Given the description of an element on the screen output the (x, y) to click on. 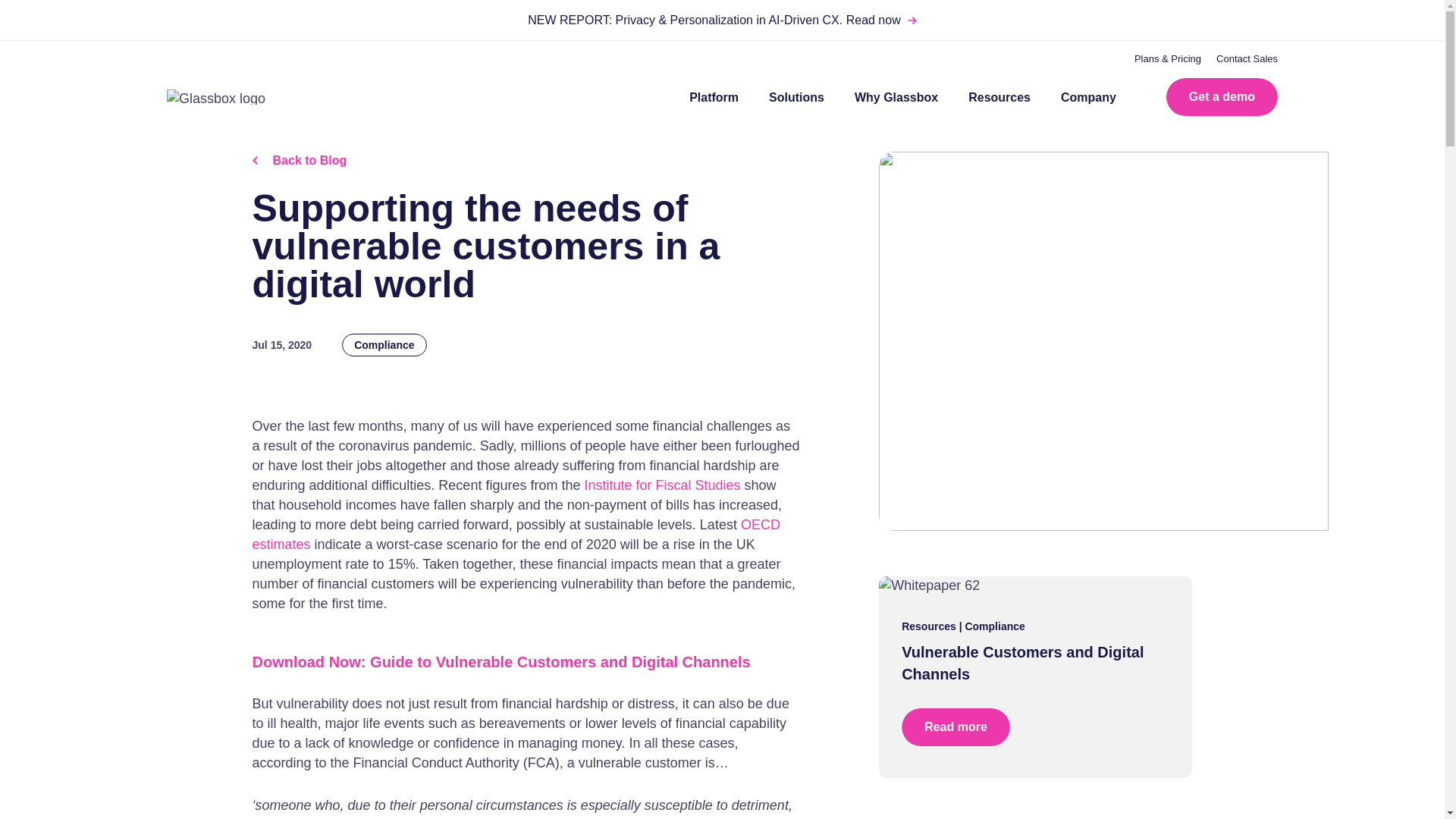
Solutions (796, 97)
Why Glassbox (895, 97)
Platform (713, 97)
